Given the description of an element on the screen output the (x, y) to click on. 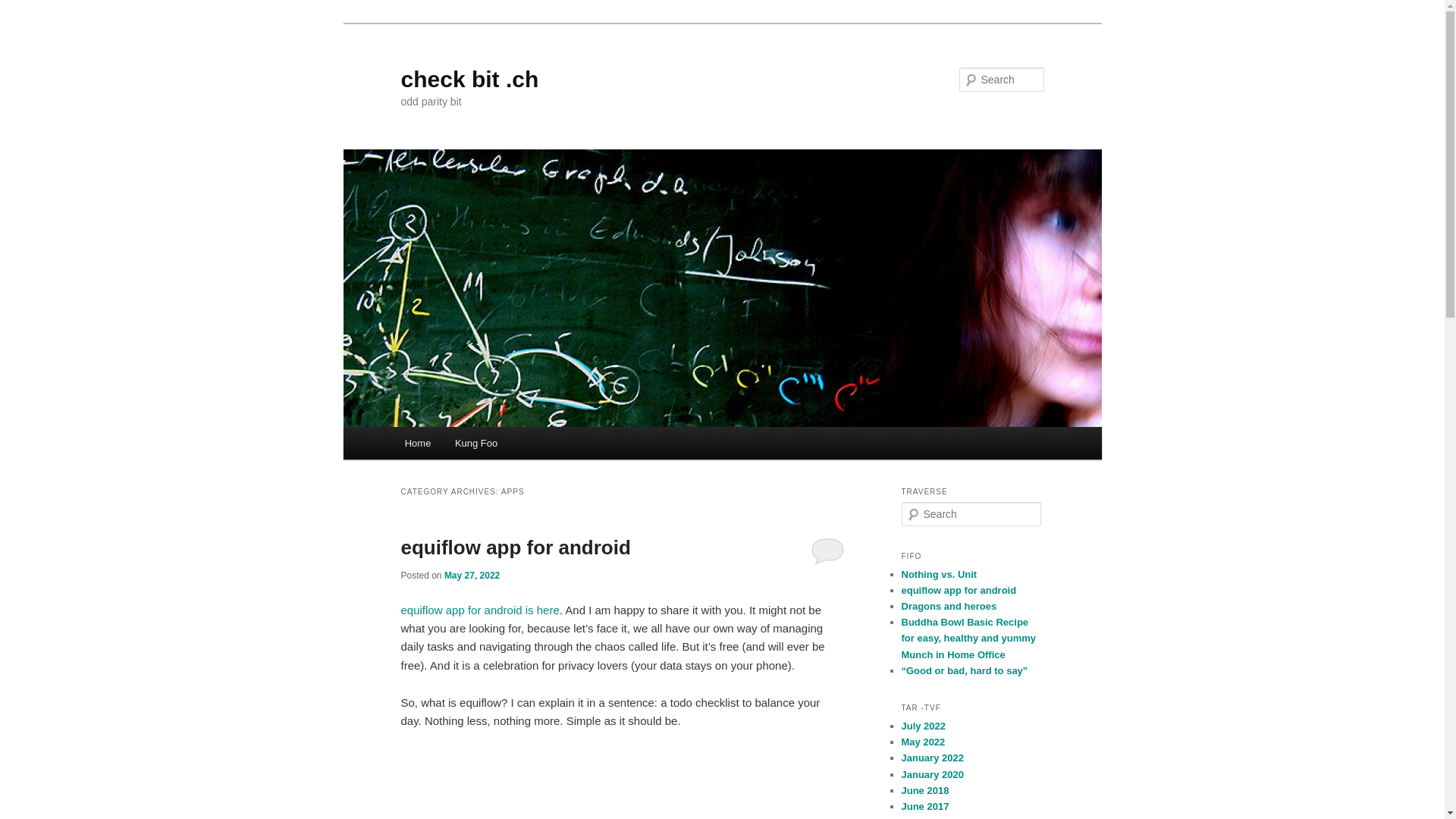
January 2020 Element type: text (931, 774)
check bit .ch Element type: text (469, 78)
Kung Foo Element type: text (475, 442)
equiflow app for android Element type: text (958, 590)
January 2022 Element type: text (931, 757)
Nothing vs. Unit Element type: text (938, 574)
May 27, 2022 Element type: text (471, 575)
Home Element type: text (417, 442)
Search Element type: text (20, 10)
June 2018 Element type: text (924, 790)
Dragons and heroes Element type: text (948, 605)
June 2017 Element type: text (924, 806)
May 2022 Element type: text (922, 741)
Skip to primary content Element type: text (22, 22)
Search Element type: text (24, 8)
equiflow app for android is here Element type: text (479, 609)
equiflow app for android Element type: text (515, 547)
July 2022 Element type: text (922, 725)
